Given the description of an element on the screen output the (x, y) to click on. 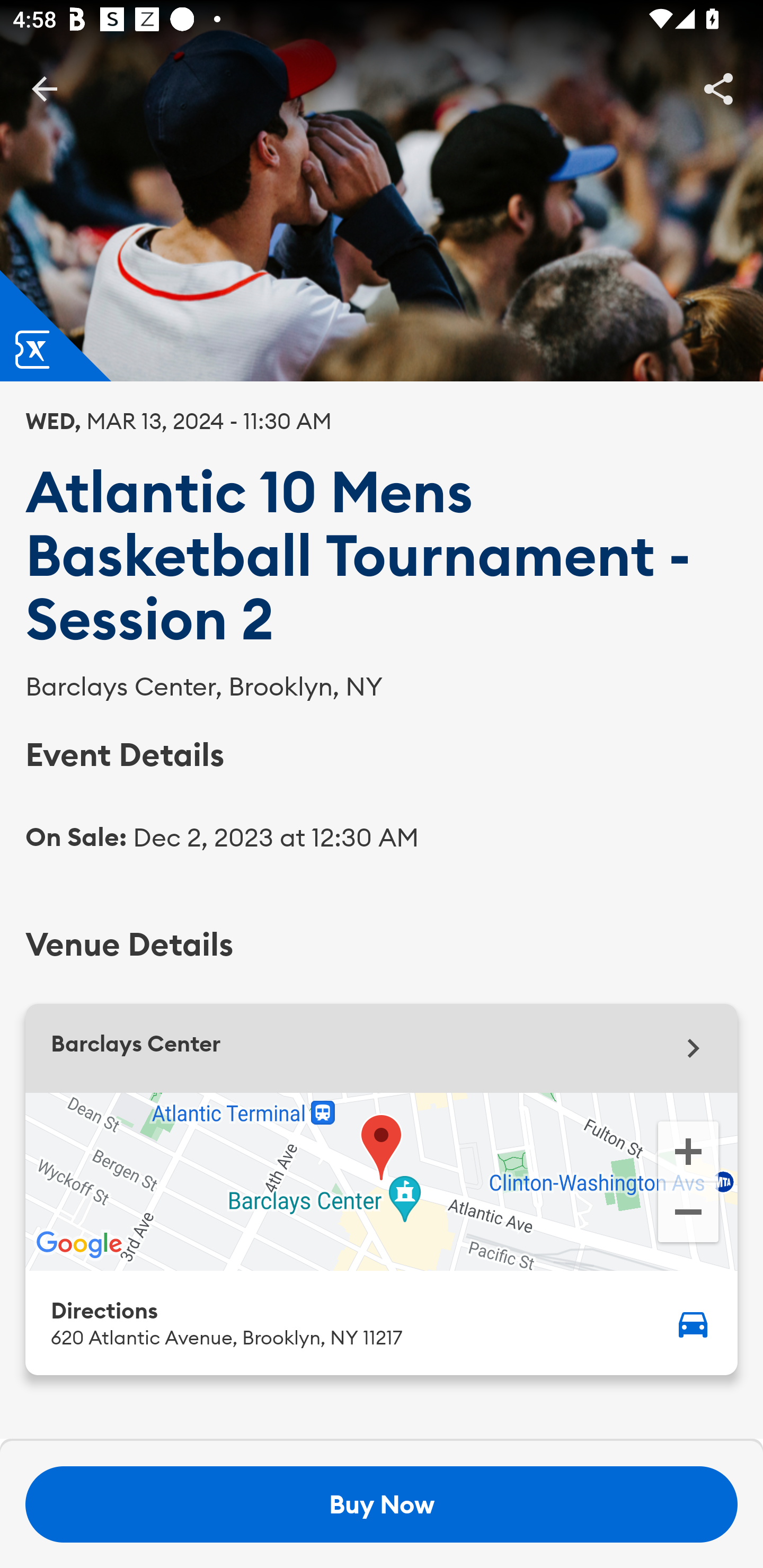
BackButton (44, 88)
Share (718, 88)
Barclays Center (381, 1047)
Google Map Barclays Center.  Zoom in Zoom out (381, 1181)
Zoom in (687, 1149)
Zoom out (687, 1214)
Directions 620 Atlantic Avenue, Brooklyn, NY 11217 (381, 1322)
Buy Now (381, 1504)
